Given the description of an element on the screen output the (x, y) to click on. 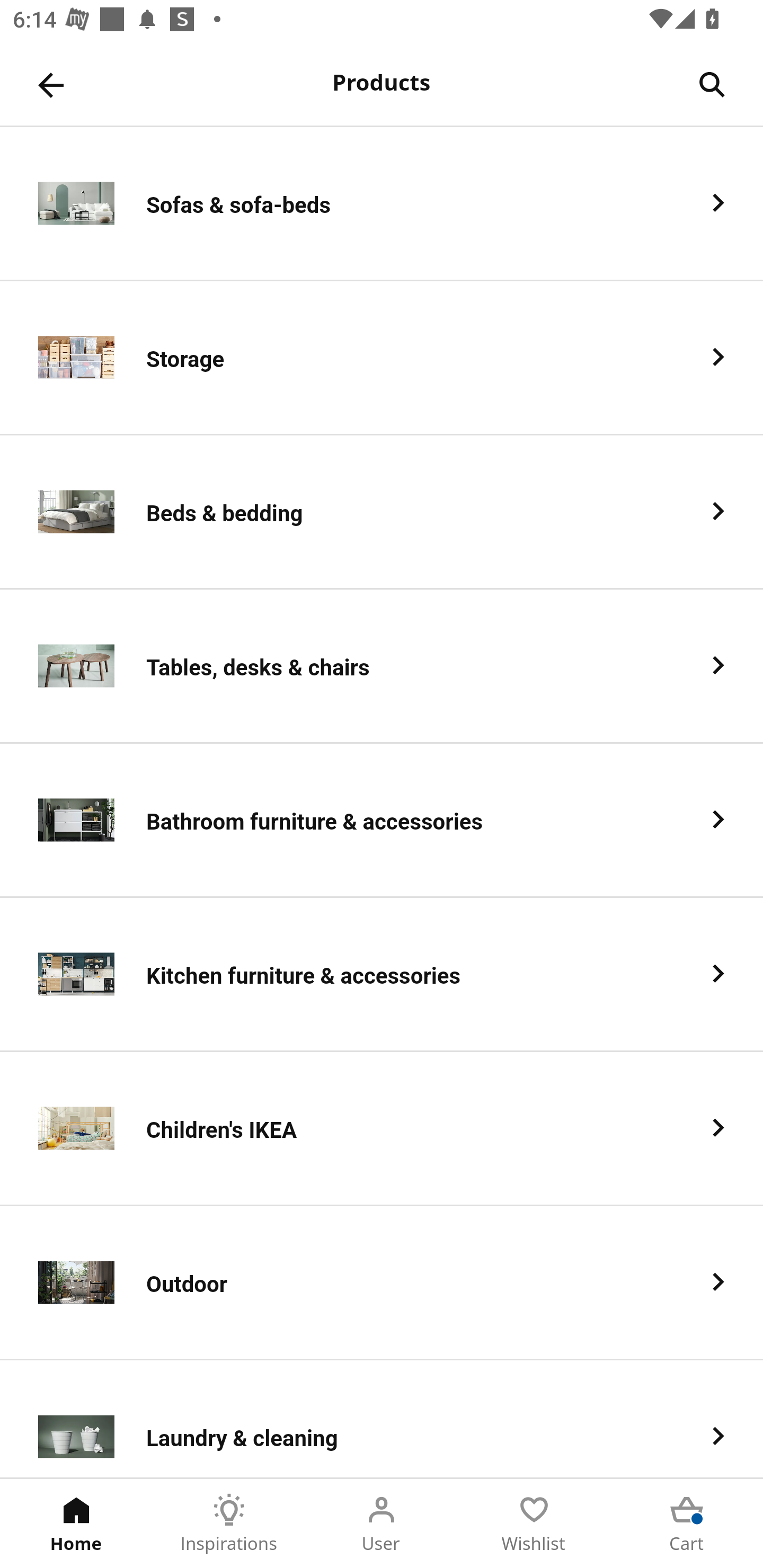
Sofas & sofa-beds (381, 203)
Storage (381, 357)
Beds & bedding (381, 512)
Tables, desks & chairs (381, 666)
Bathroom furniture & accessories (381, 820)
Kitchen furniture & accessories (381, 975)
Children's IKEA (381, 1128)
Outdoor (381, 1283)
Laundry & cleaning (381, 1419)
Home
Tab 1 of 5 (76, 1522)
Inspirations
Tab 2 of 5 (228, 1522)
User
Tab 3 of 5 (381, 1522)
Wishlist
Tab 4 of 5 (533, 1522)
Cart
Tab 5 of 5 (686, 1522)
